Given the description of an element on the screen output the (x, y) to click on. 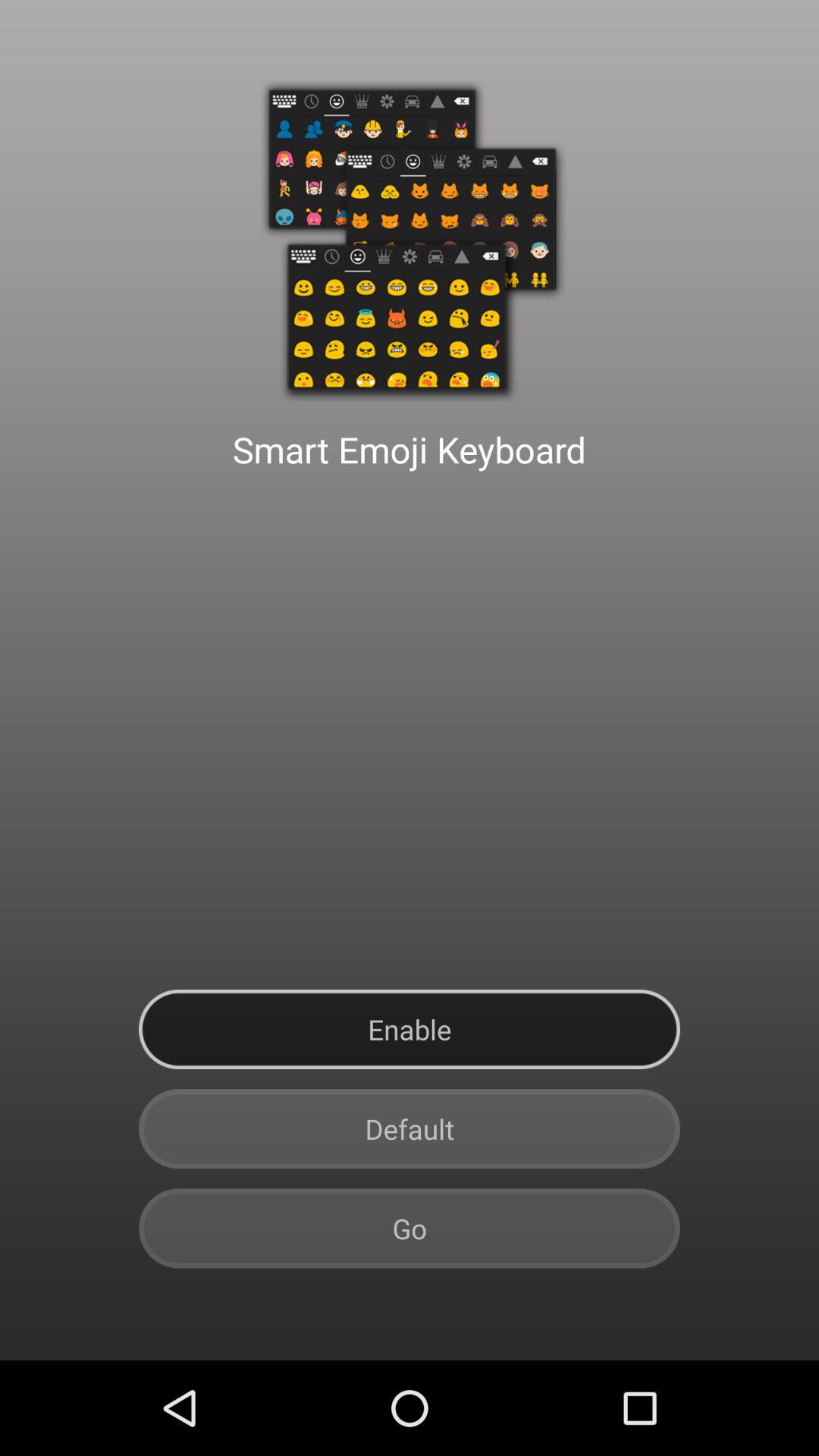
scroll to the enable button (409, 1029)
